Given the description of an element on the screen output the (x, y) to click on. 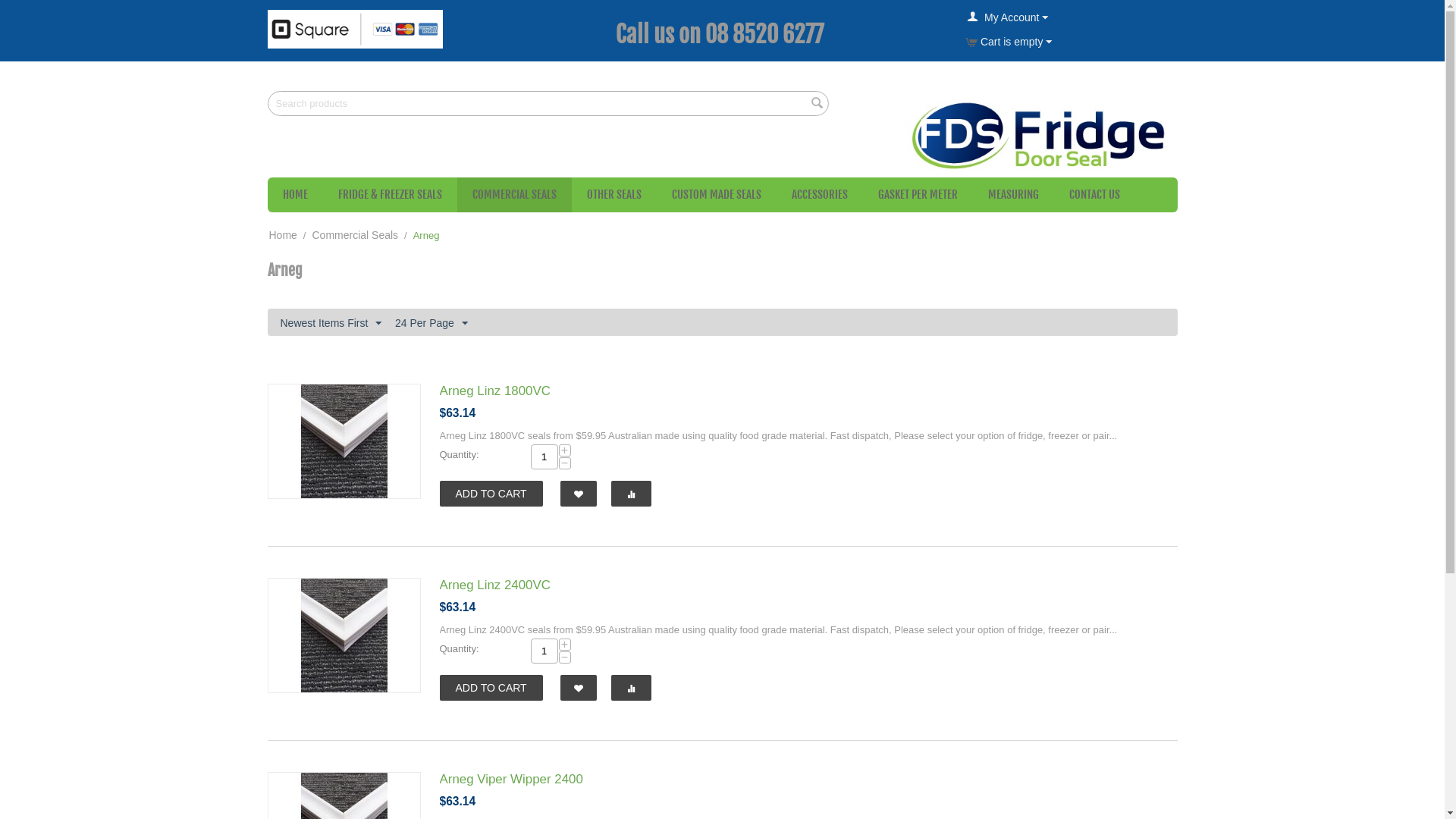
  My Account Element type: text (1007, 17)
Add to comparison list Element type: hover (631, 687)
ADD TO CART Element type: text (490, 687)
Search products Element type: hover (547, 103)
Newest Items First Element type: text (330, 321)
Commercial Seals Element type: text (354, 234)
Cart is empty Element type: text (1008, 41)
24 Per Page Element type: text (431, 321)
HOME Element type: text (294, 194)
Arneg Linz 2400VC Element type: text (494, 584)
Arneg Viper Wipper 2400 Element type: text (511, 778)
COMMERCIAL SEALS Element type: text (513, 194)
MEASURING Element type: text (1012, 194)
ADD TO CART Element type: text (490, 493)
OTHER SEALS Element type: text (613, 194)
FRIDGE & FREEZER SEALS Element type: text (390, 194)
+ Element type: text (564, 644)
Search Element type: hover (817, 104)
Add to wish list Element type: hover (578, 493)
CONTACT US Element type: text (1094, 194)
Add to comparison list Element type: hover (631, 493)
Arneg Linz 1800VC Element type: text (494, 390)
+ Element type: text (564, 450)
GASKET PER METER Element type: text (917, 194)
Add to wish list Element type: hover (578, 687)
Home Element type: text (282, 234)
CUSTOM MADE SEALS Element type: text (716, 194)
ACCESSORIES Element type: text (819, 194)
